Given the description of an element on the screen output the (x, y) to click on. 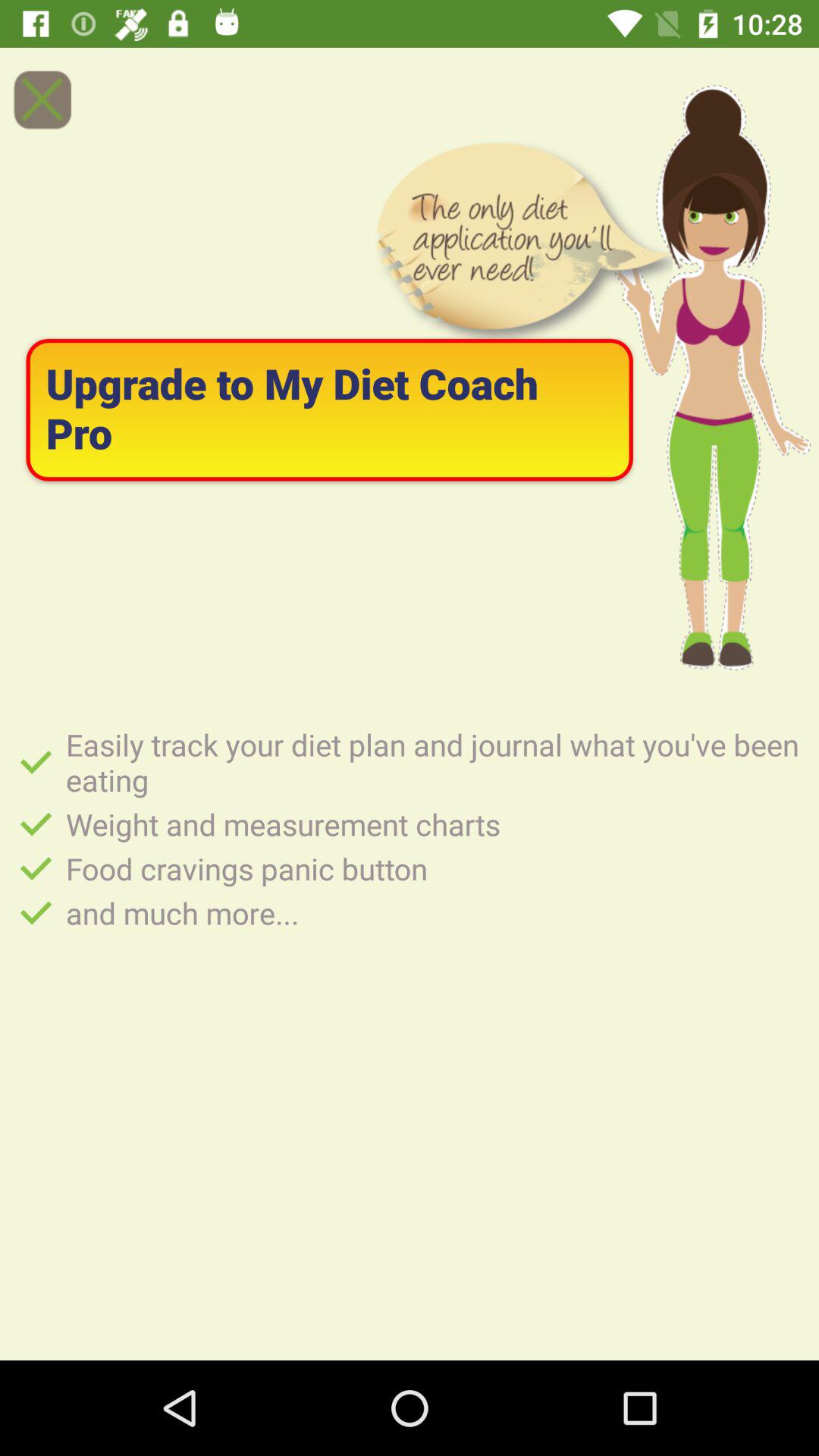
launch the upgrade to my (329, 409)
